Given the description of an element on the screen output the (x, y) to click on. 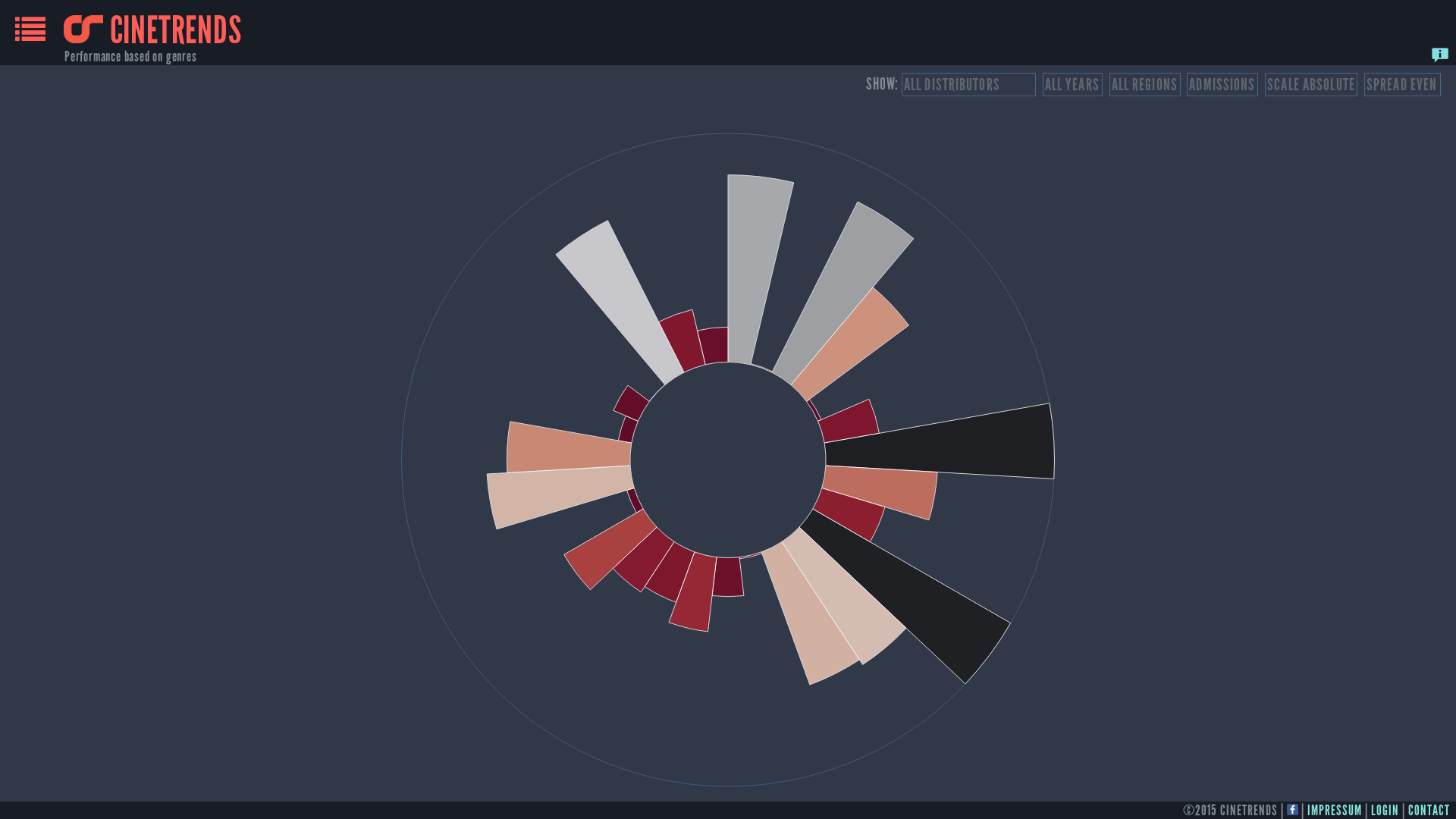
CINETRENDS Element type: text (152, 30)
